Given the description of an element on the screen output the (x, y) to click on. 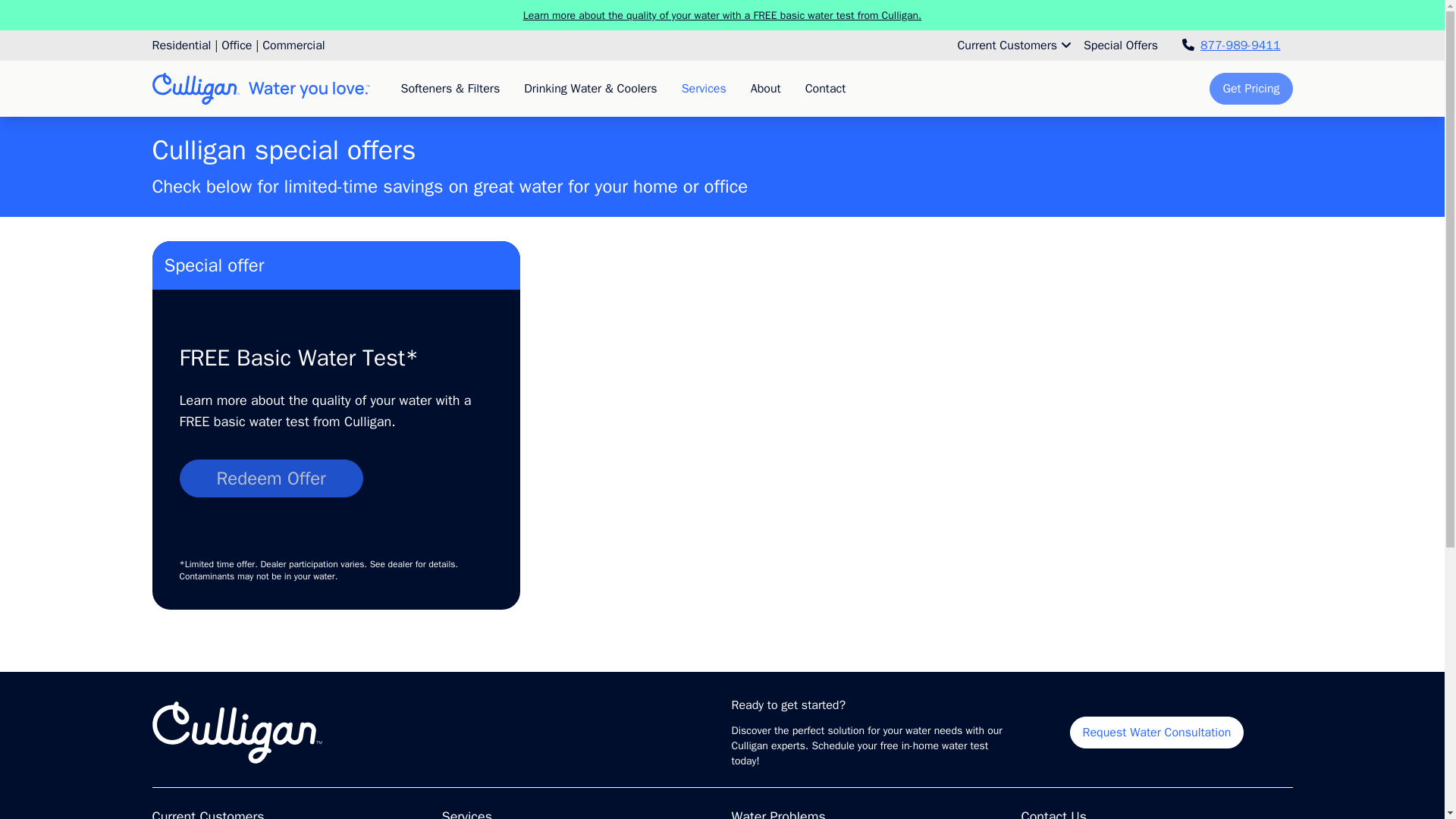
Contact (826, 88)
Commercial (293, 45)
Special Offers (1120, 45)
Residential (181, 45)
Office (236, 45)
About (765, 88)
Current Customers (1013, 45)
877-989-9411 (1231, 45)
Redeem Offer (270, 478)
Request Water Consultation (1157, 732)
Services (703, 88)
Get Pricing (1250, 88)
